Given the description of an element on the screen output the (x, y) to click on. 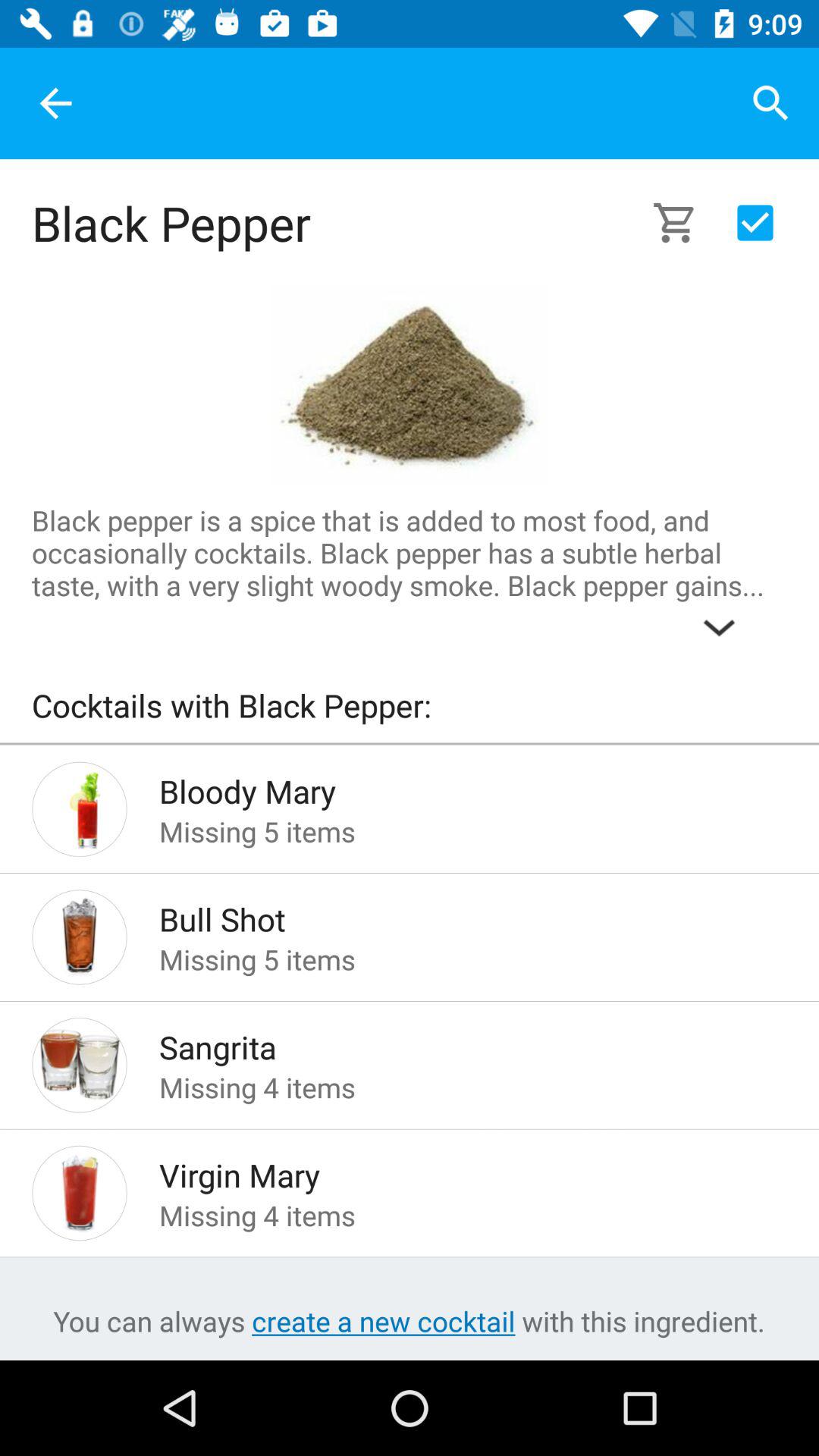
select from menu (755, 222)
